Given the description of an element on the screen output the (x, y) to click on. 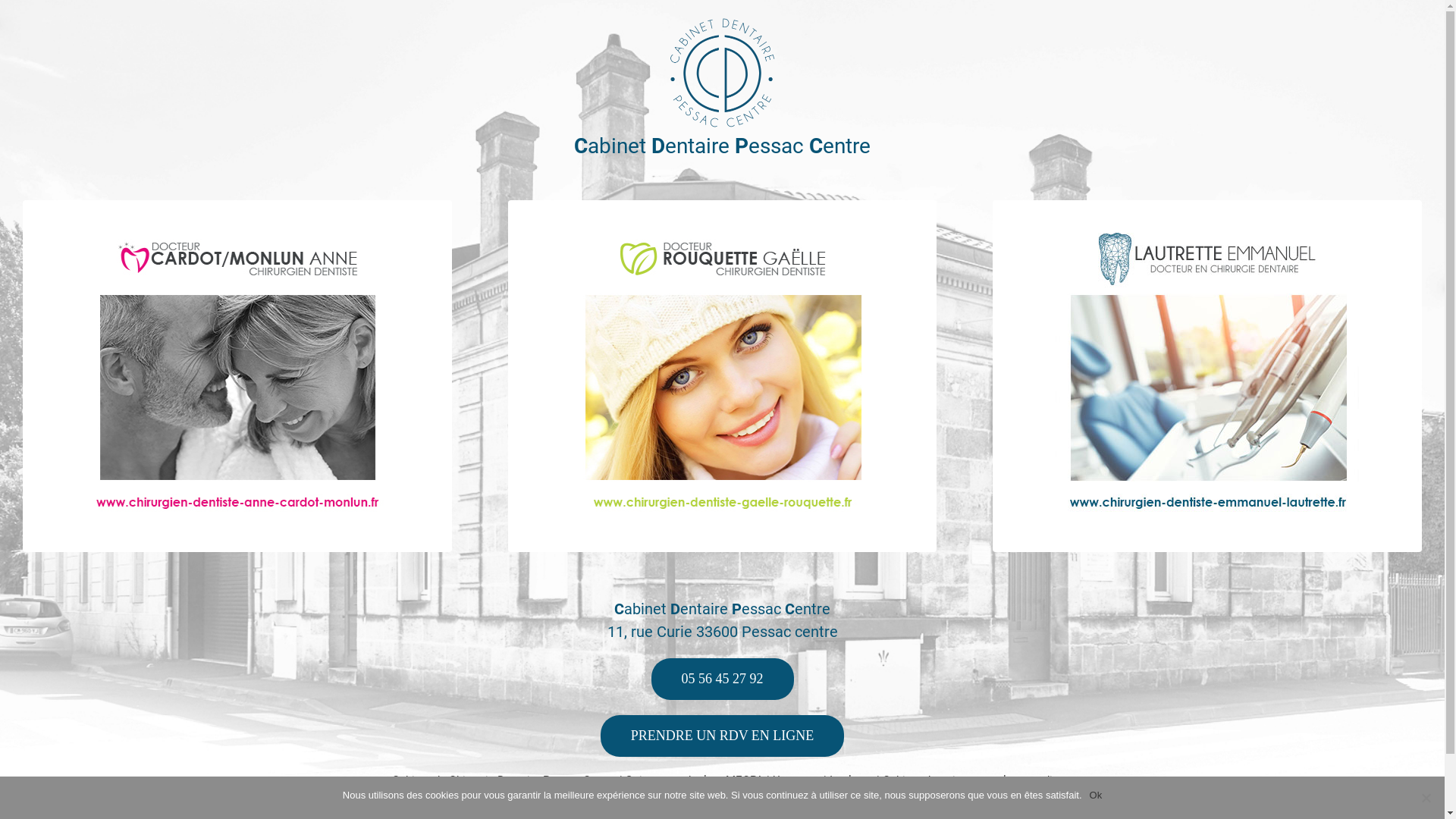
Visiter le site internet
du Docteur
Anne Cardot-Monlun Element type: text (243, 413)
PRENDRE UN RDV EN LIGNE Element type: text (722, 735)
Logo_CDPC_Bleu Element type: hover (722, 72)
05 56 45 27 92 Element type: text (721, 678)
Non Element type: hover (1425, 797)
Ok Element type: text (1095, 795)
Visiter le site internet
du Docteur
Emmanuel Lautrette Element type: text (1214, 413)
